Given the description of an element on the screen output the (x, y) to click on. 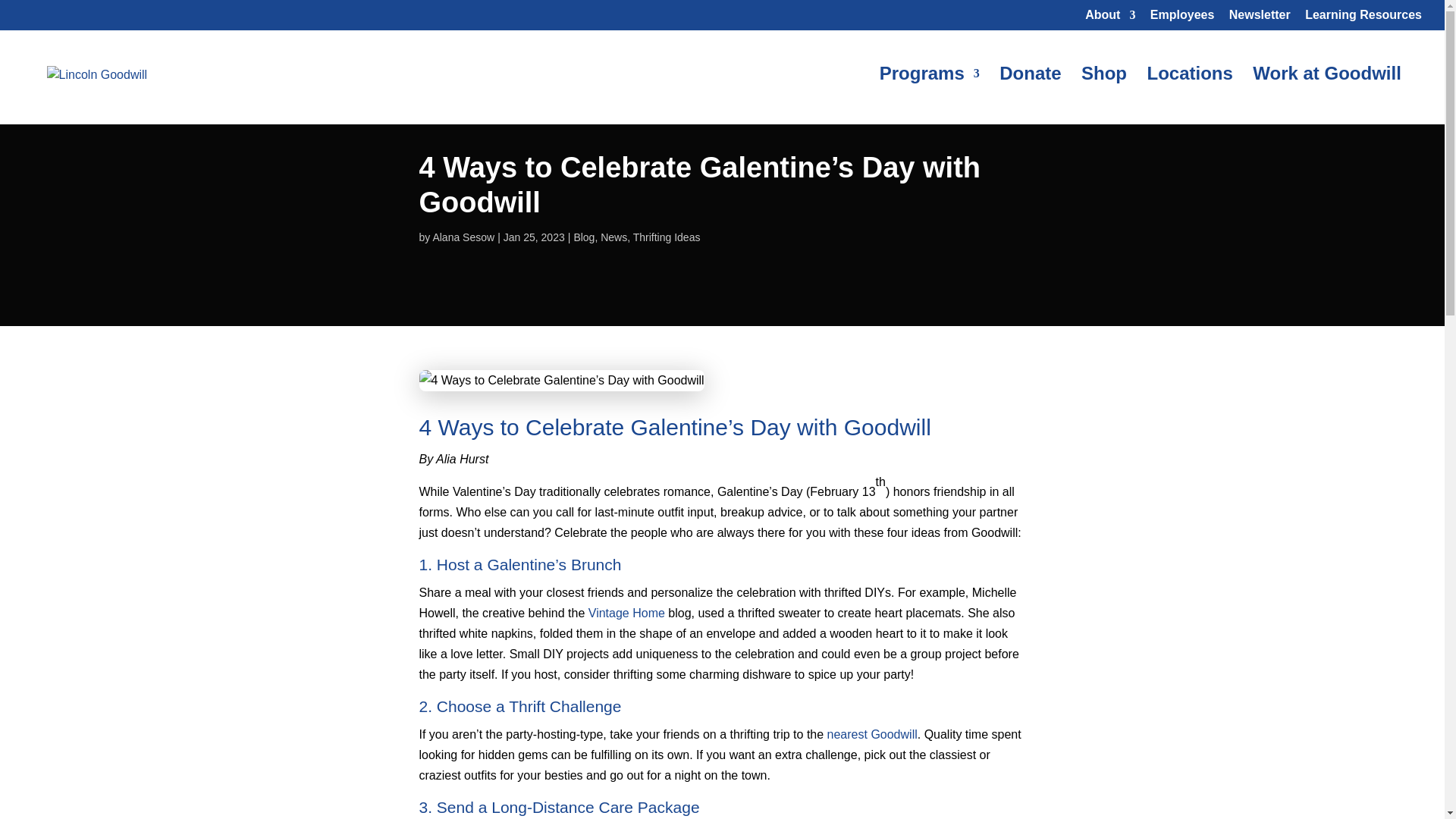
Work at Goodwill (1326, 95)
About (1109, 19)
Thrifting Ideas (666, 236)
Posts by Alana Sesow (463, 236)
Blog (583, 236)
Alana Sesow (463, 236)
News (613, 236)
Locations (1189, 95)
nearest Goodwill (872, 734)
Newsletter (1259, 19)
Programs (929, 95)
Vintage Home (626, 612)
Employees (1182, 19)
Donate (1029, 95)
Learning Resources (1363, 19)
